Given the description of an element on the screen output the (x, y) to click on. 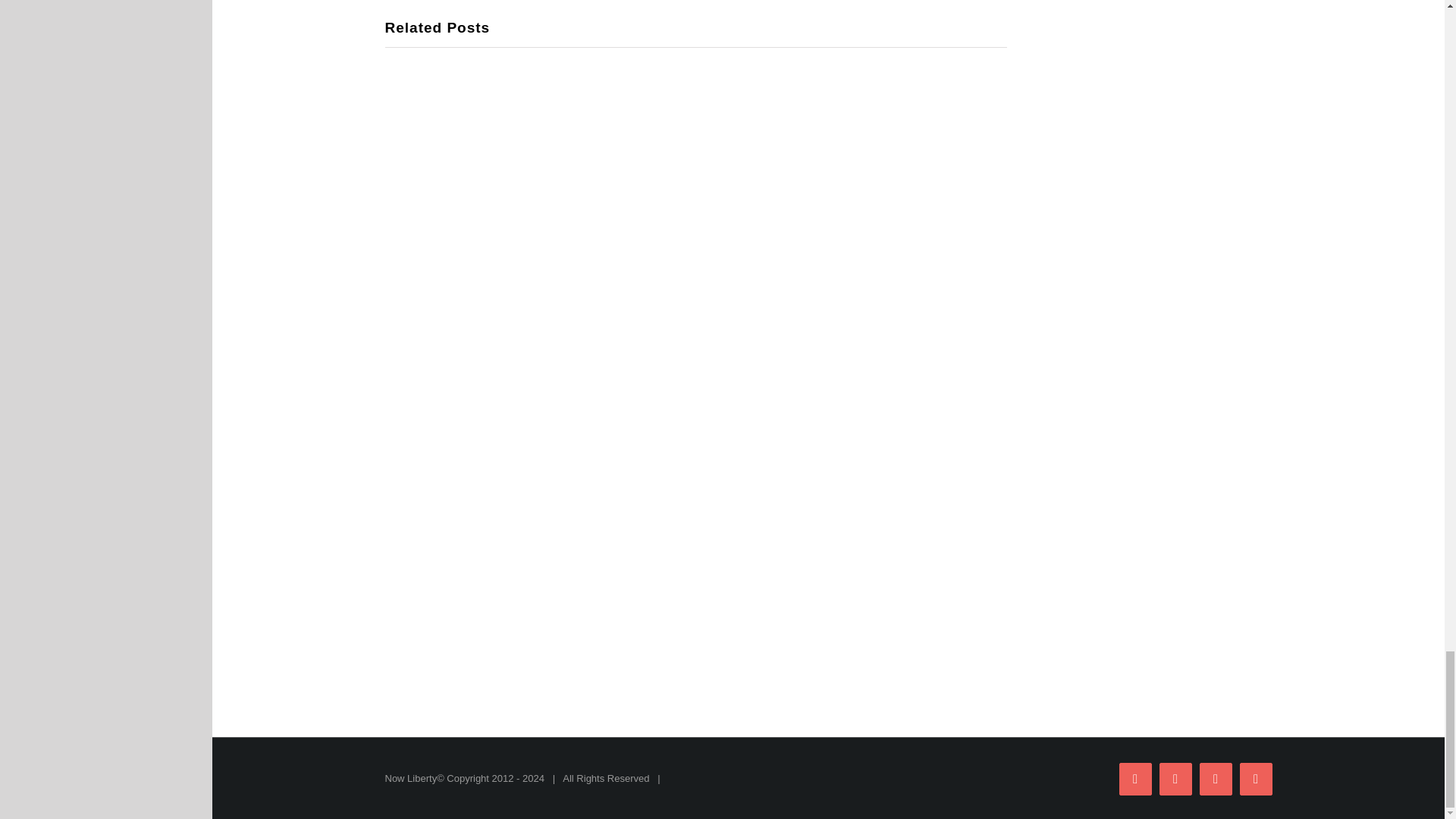
Instagram (1215, 778)
Facebook (1135, 778)
Twitter (1174, 778)
Pinterest (1255, 778)
